Given the description of an element on the screen output the (x, y) to click on. 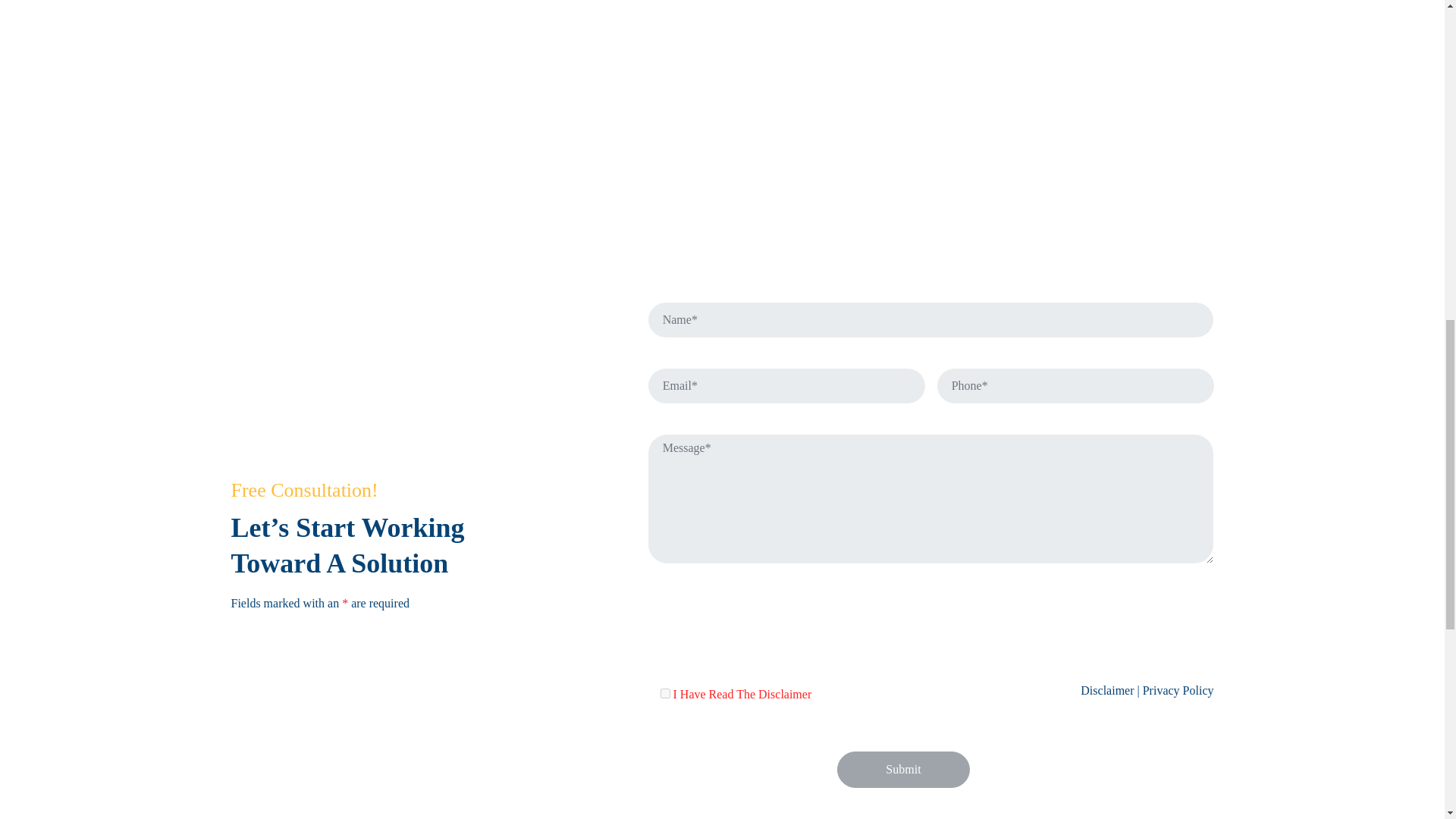
Privacy Policy (1178, 689)
Disclaimer (1107, 689)
Submit (903, 769)
Submit (903, 769)
I Have Read The Disclaimer (664, 693)
